Given the description of an element on the screen output the (x, y) to click on. 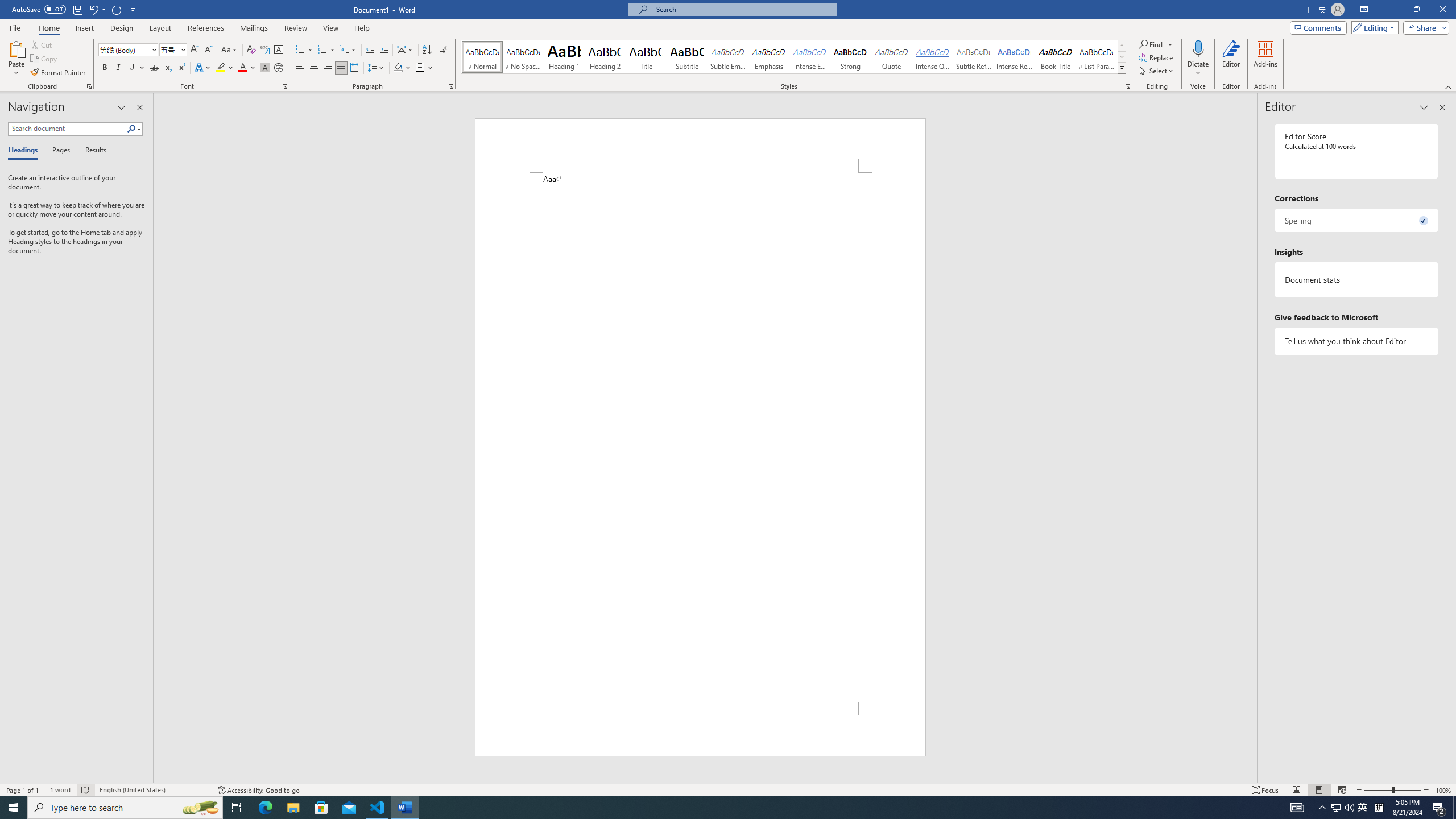
Intense Emphasis (809, 56)
Emphasis (768, 56)
Repeat Typing (117, 9)
Document statistics (1356, 279)
